Given the description of an element on the screen output the (x, y) to click on. 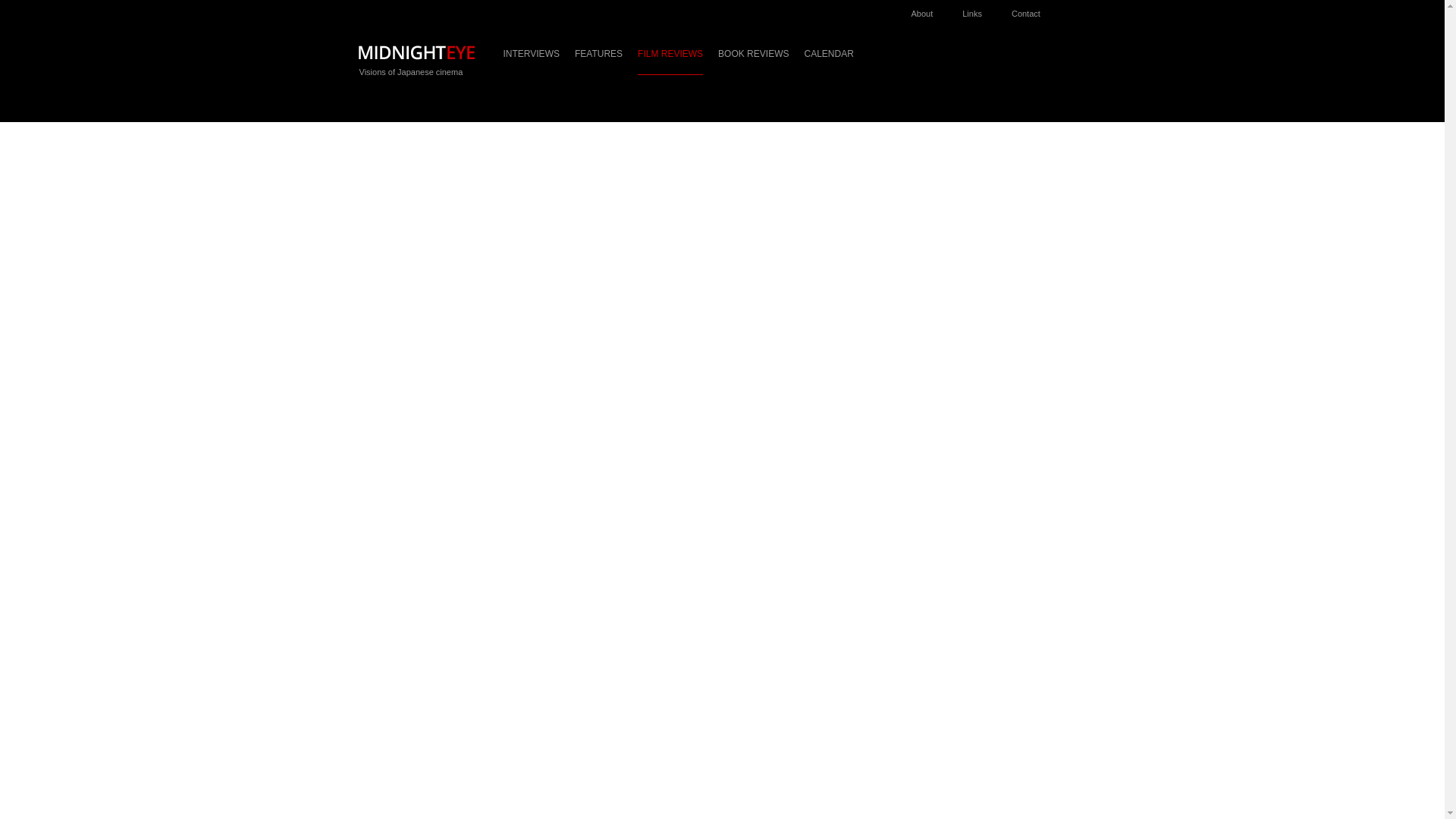
BOOK REVIEWS (753, 61)
FEATURES (599, 61)
CALENDAR (828, 61)
Links (979, 9)
Book reviews (753, 61)
About (929, 9)
Interviews (531, 61)
Calendar (828, 61)
Film reviews (670, 61)
Midnight Eye (416, 56)
Midnight Eye (416, 52)
FILM REVIEWS (670, 61)
Links (979, 9)
Contact (1033, 9)
INTERVIEWS (531, 61)
